Given the description of an element on the screen output the (x, y) to click on. 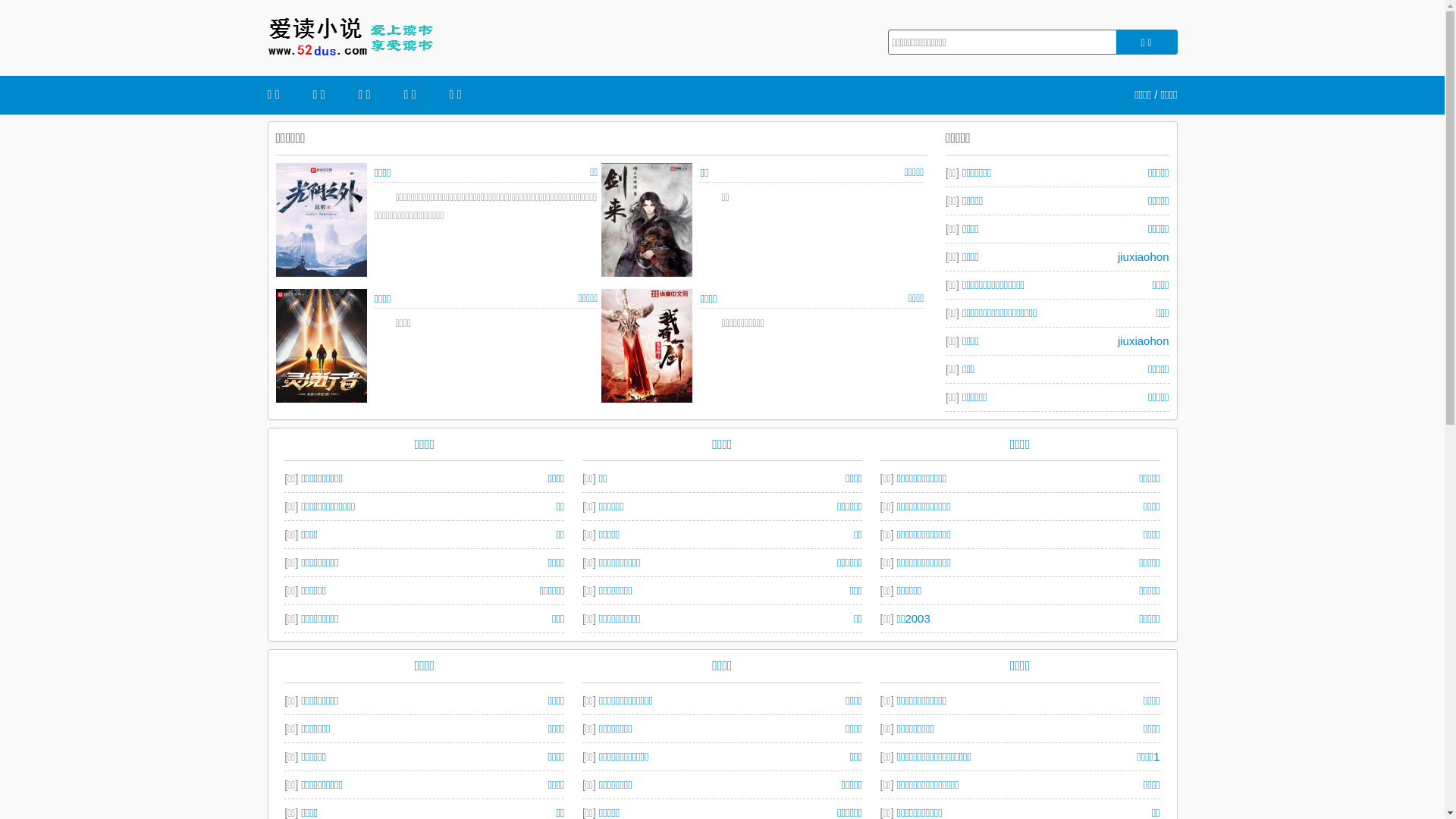
jiuxiaohon Element type: text (1143, 339)
jiuxiaohon Element type: text (1143, 256)
